Given the description of an element on the screen output the (x, y) to click on. 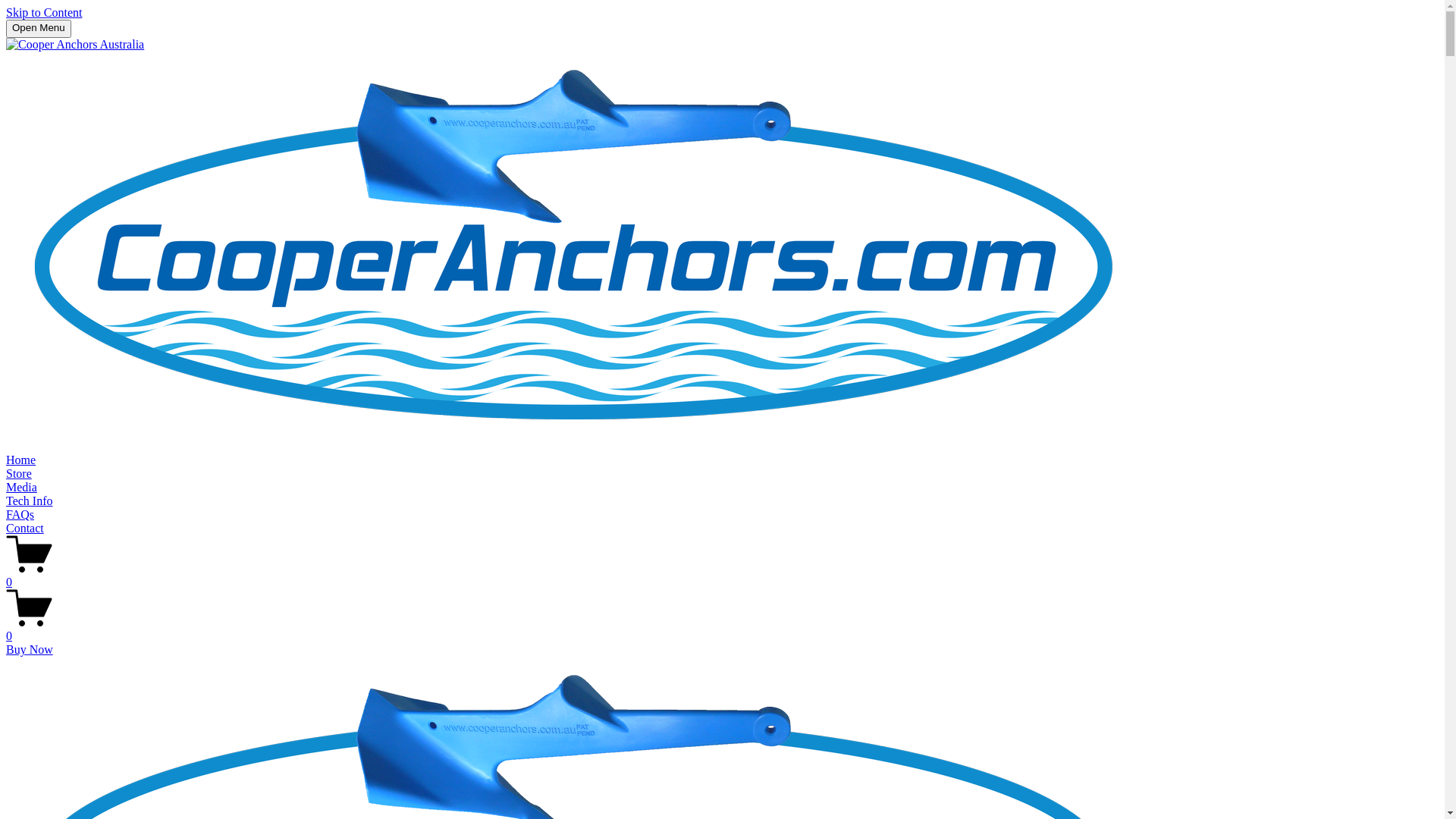
FAQs Element type: text (20, 514)
0 Element type: text (722, 575)
Skip to Content Element type: text (43, 12)
Media Element type: text (21, 486)
Tech Info Element type: text (29, 500)
Store Element type: text (18, 473)
0 Element type: text (722, 629)
Contact Element type: text (24, 527)
Buy Now Element type: text (29, 649)
Open Menu Element type: text (38, 28)
Home Element type: text (20, 459)
